Given the description of an element on the screen output the (x, y) to click on. 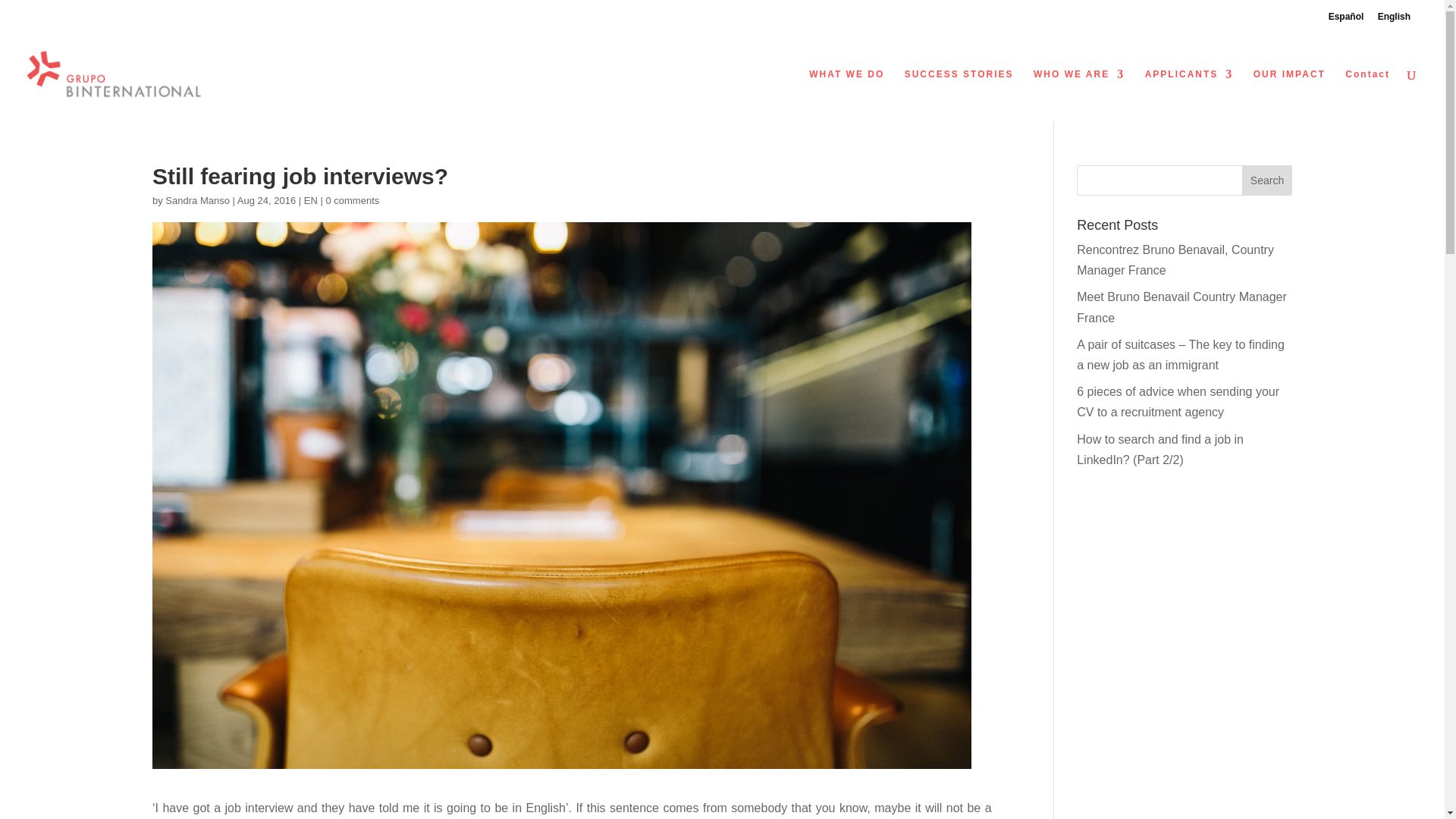
Sandra Manso (197, 200)
0 comments (351, 200)
SUCCESS STORIES (958, 94)
APPLICANTS (1188, 94)
Rencontrez Bruno Benavail, Country Manager France (1175, 259)
EN (310, 200)
Search (1266, 180)
Search (1266, 180)
WHAT WE DO (846, 94)
Posts by Sandra Manso (197, 200)
OUR IMPACT (1288, 94)
Meet Bruno Benavail Country Manager France (1182, 306)
WHO WE ARE (1078, 94)
English (1393, 16)
